Given the description of an element on the screen output the (x, y) to click on. 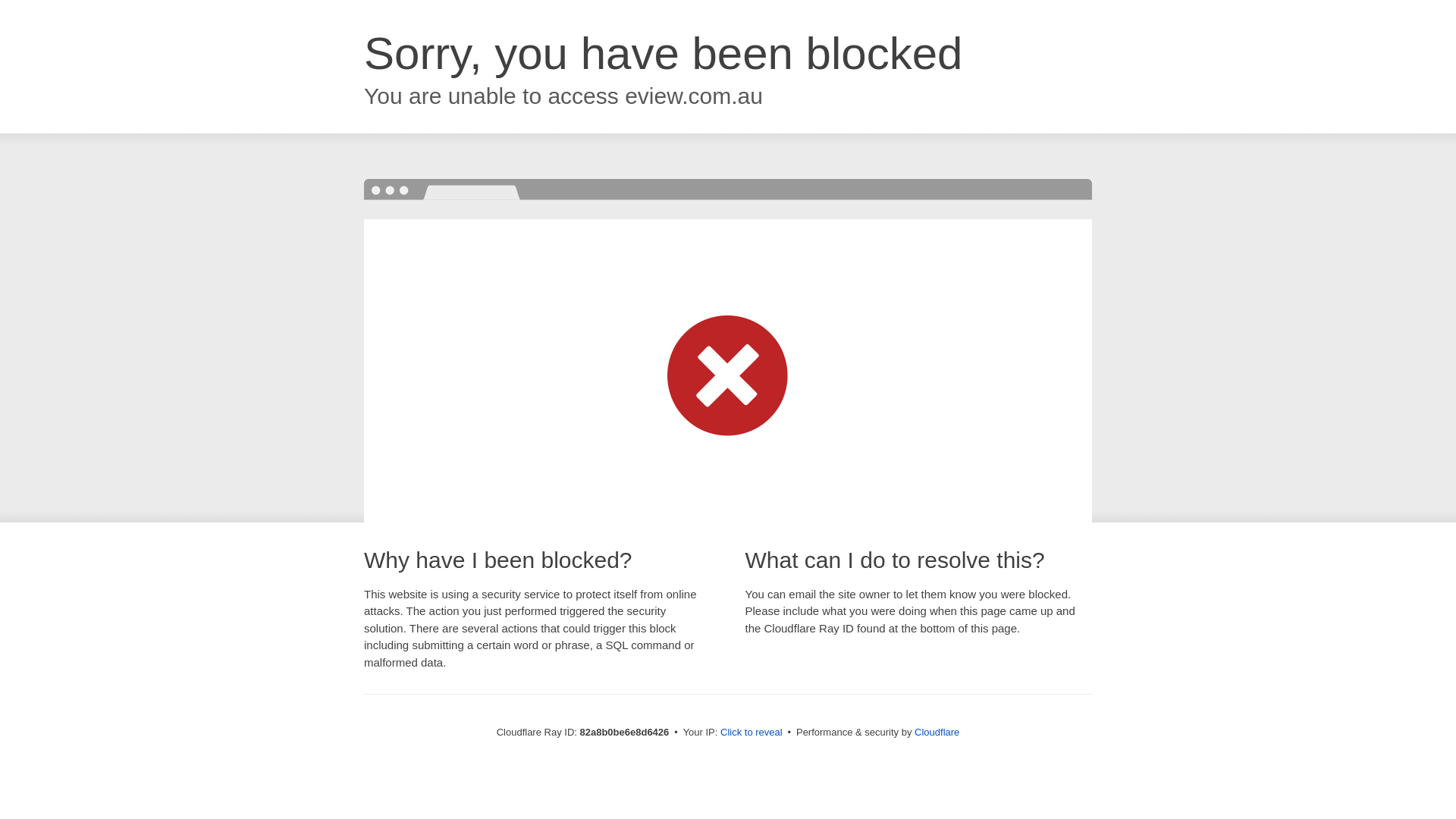
Click to reveal Element type: text (751, 732)
Cloudflare Element type: text (936, 731)
